Given the description of an element on the screen output the (x, y) to click on. 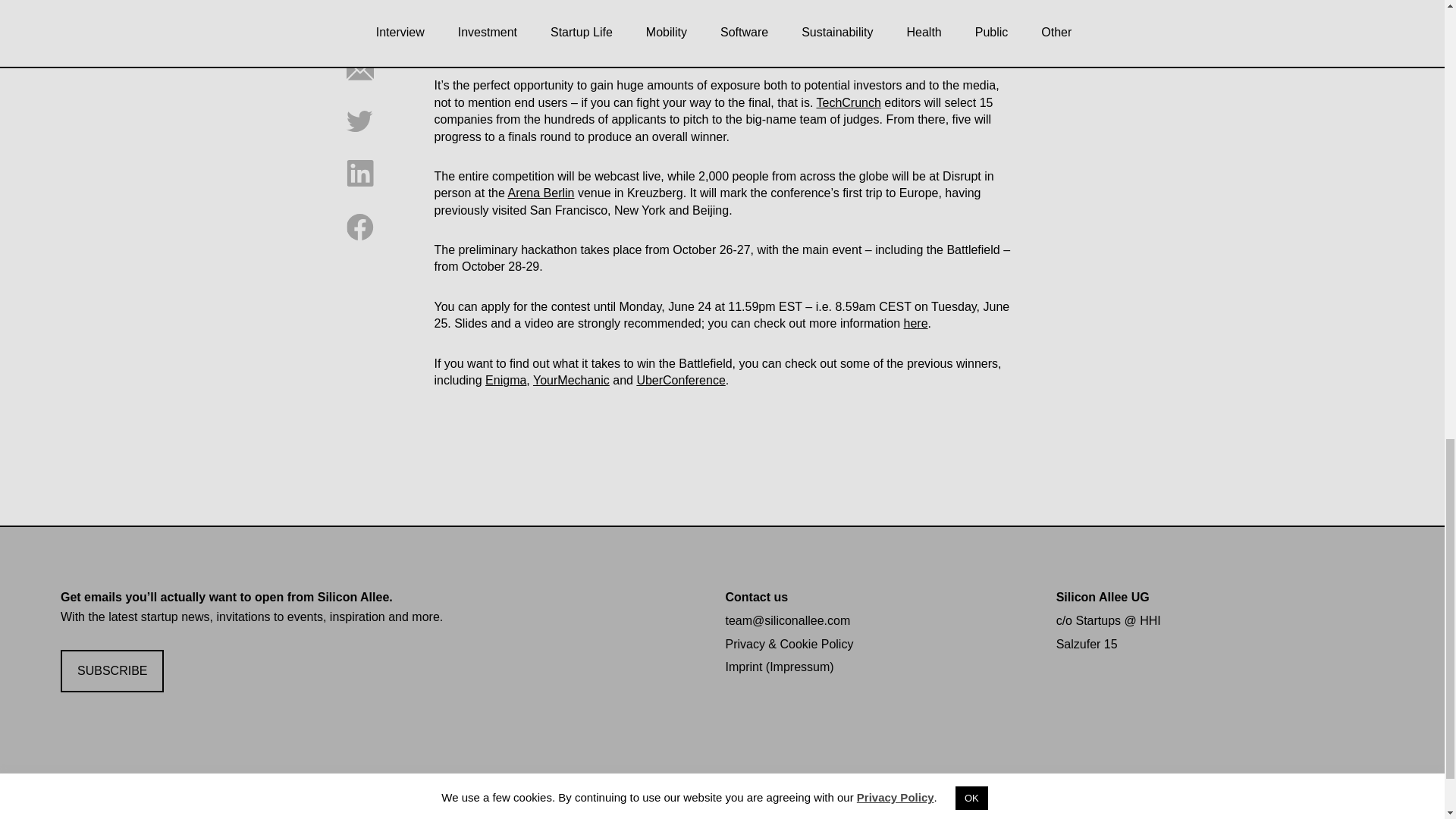
Arena Berlin (539, 192)
YourMechanic (571, 379)
TechCrunch (847, 102)
here (916, 323)
Salzufer 15 (1087, 644)
Contact us (756, 596)
Enigma (504, 379)
SUBSCRIBE (112, 671)
Silicon Allee UG (1103, 596)
UberConference (680, 379)
